Given the description of an element on the screen output the (x, y) to click on. 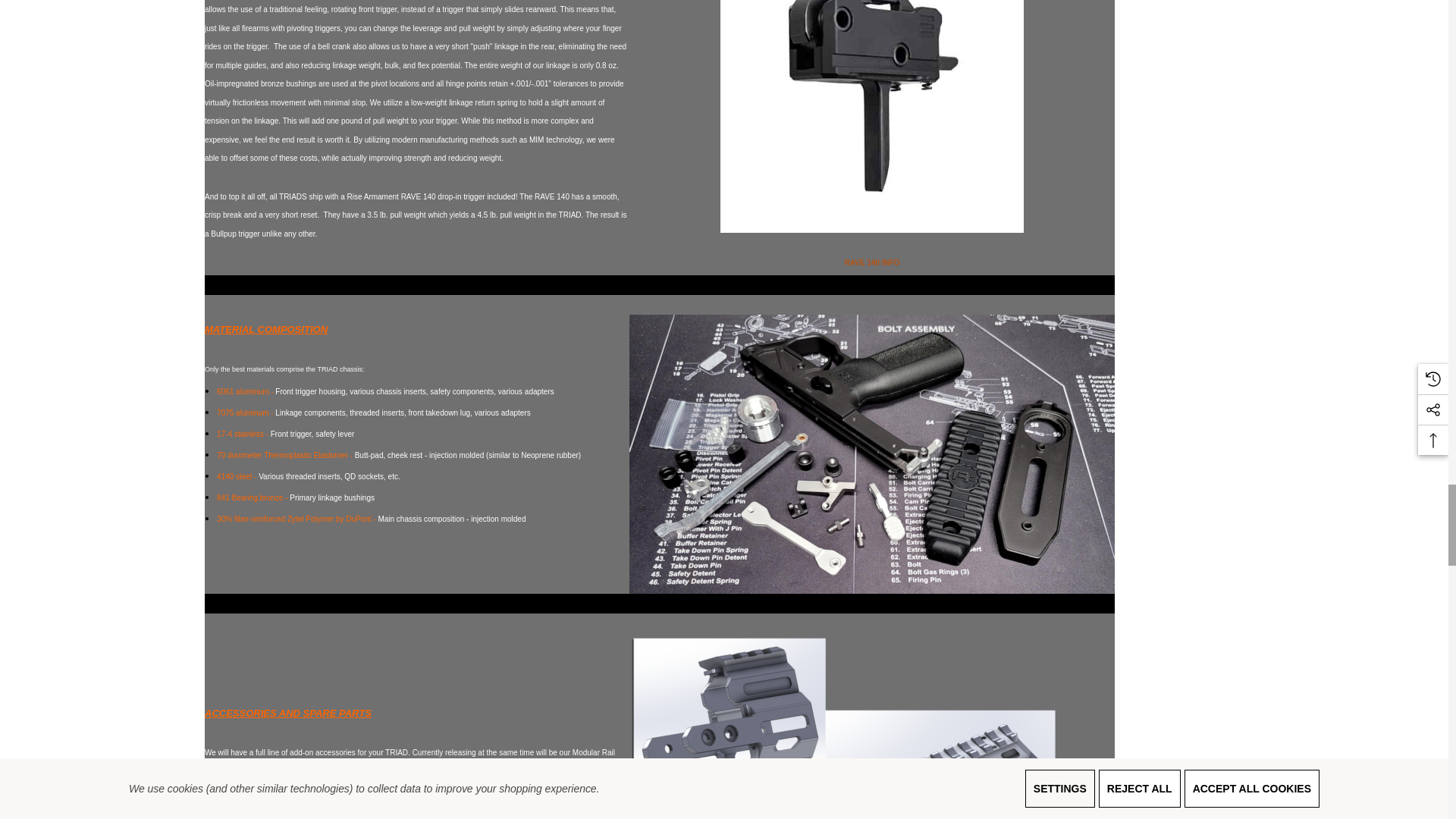
rave-04.jpg (871, 116)
image176.jpg (871, 726)
